Given the description of an element on the screen output the (x, y) to click on. 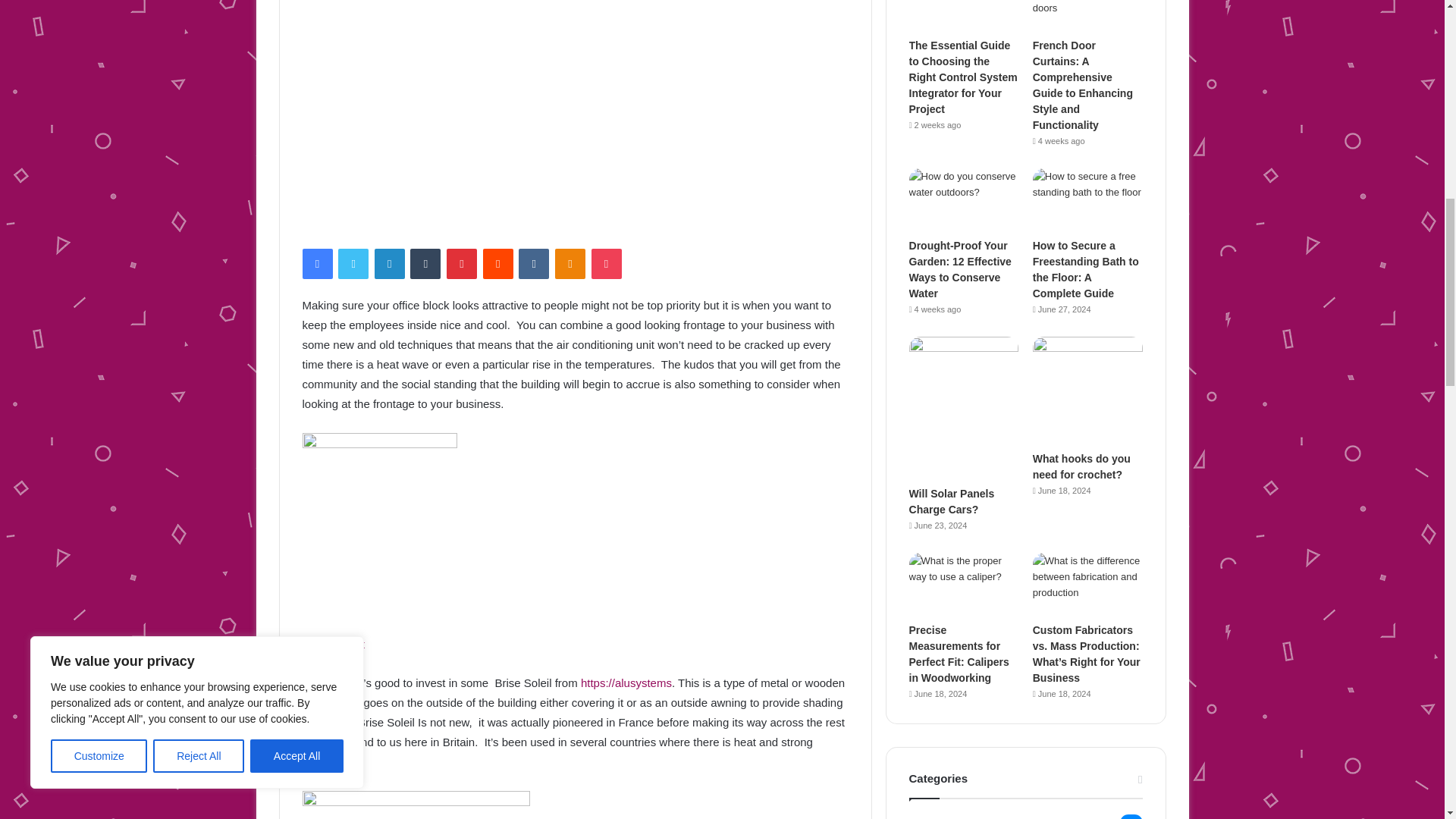
Pocket (606, 263)
Facebook (316, 263)
Pinterest (461, 263)
Tumblr (425, 263)
Reddit (498, 263)
VKontakte (533, 263)
Twitter (352, 263)
Odnoklassniki (569, 263)
LinkedIn (389, 263)
